Given the description of an element on the screen output the (x, y) to click on. 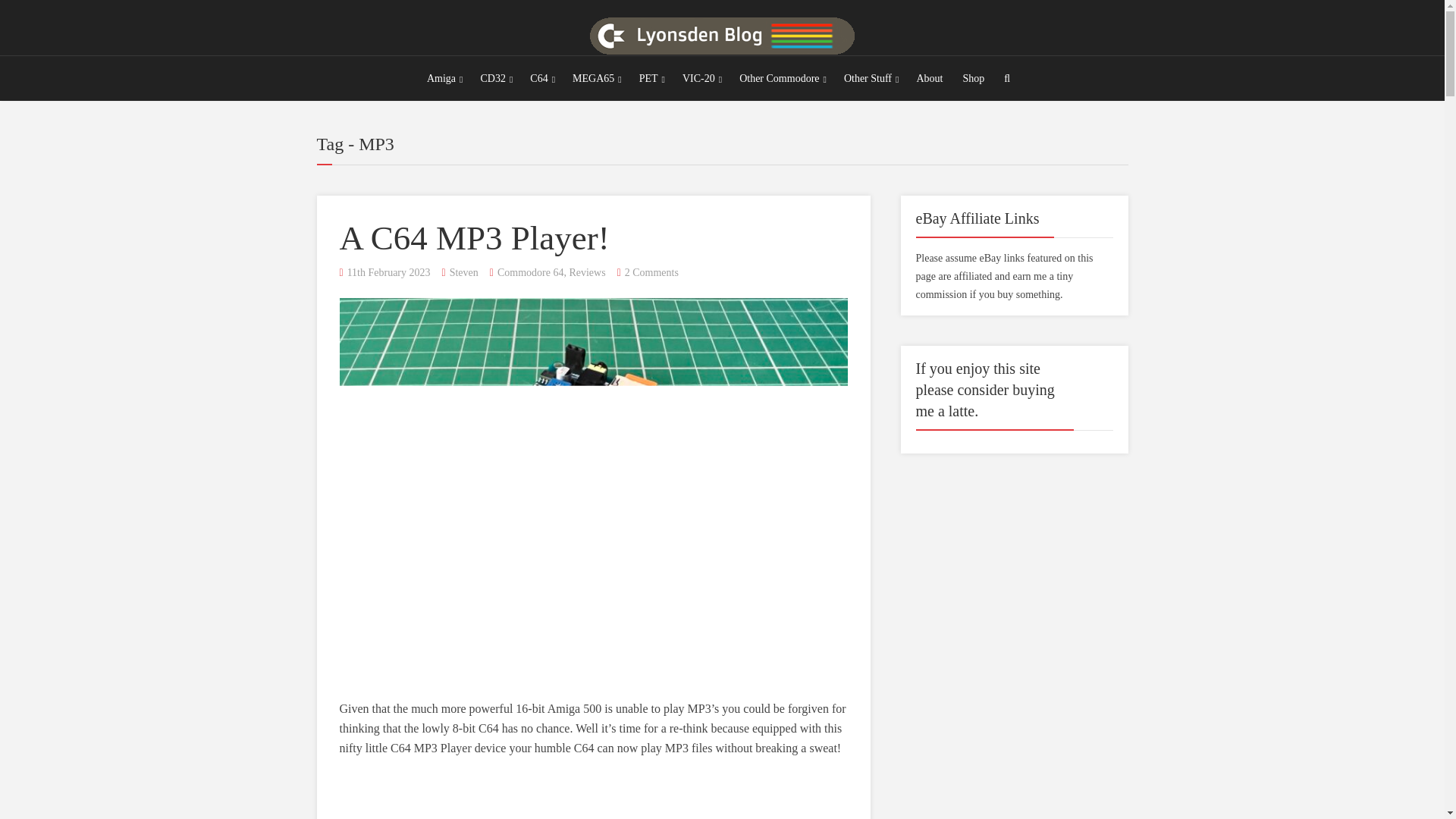
Lyonsden Blog (721, 32)
A C64 MP3 Player! (474, 238)
